Given the description of an element on the screen output the (x, y) to click on. 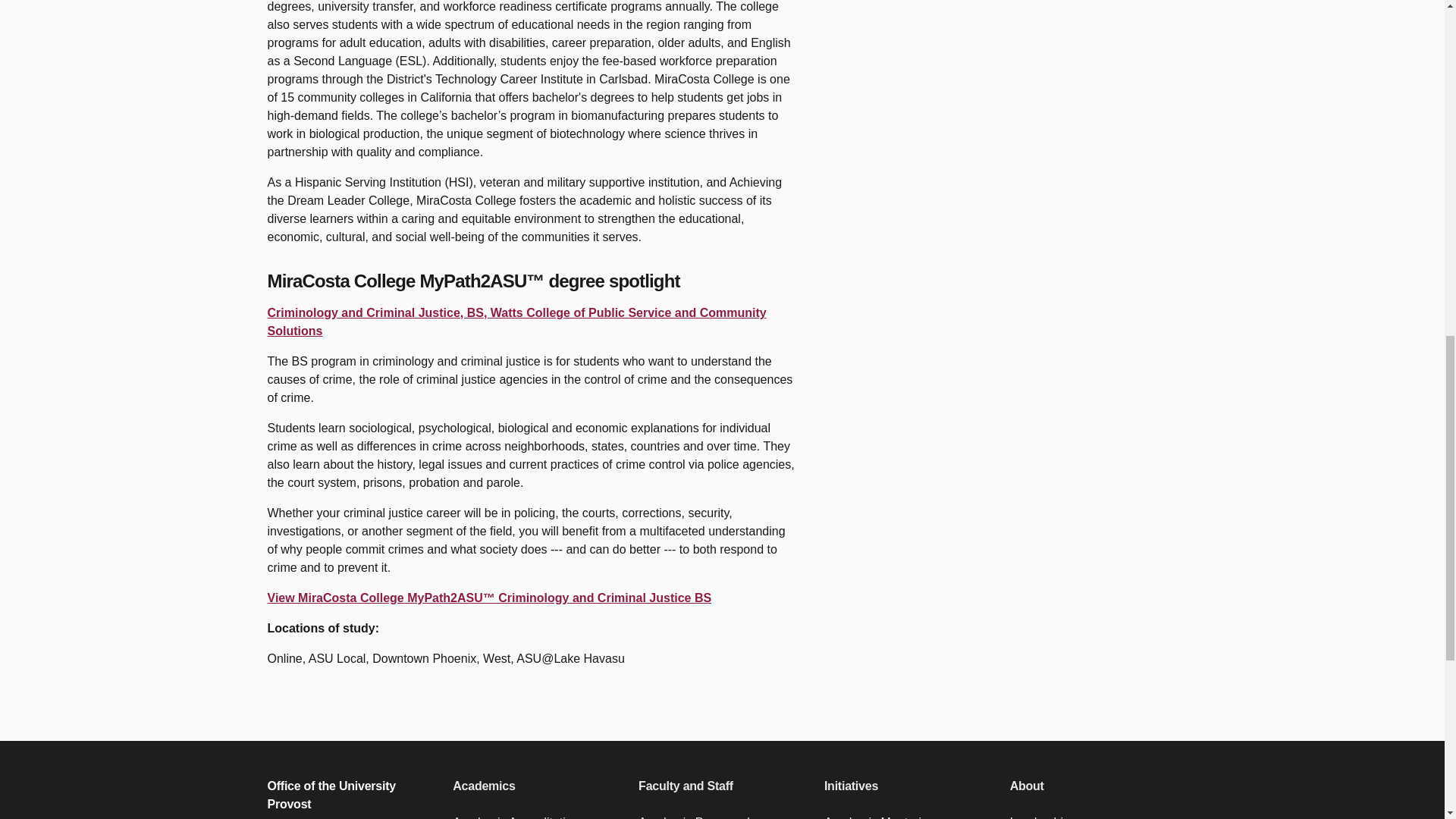
Initiatives (907, 786)
Academic Mentoring (907, 816)
Faculty and Staff (722, 786)
Academic Personnel (722, 816)
Leadership (1093, 816)
About (1093, 786)
Academic Accreditation (536, 816)
Academics (536, 786)
